Given the description of an element on the screen output the (x, y) to click on. 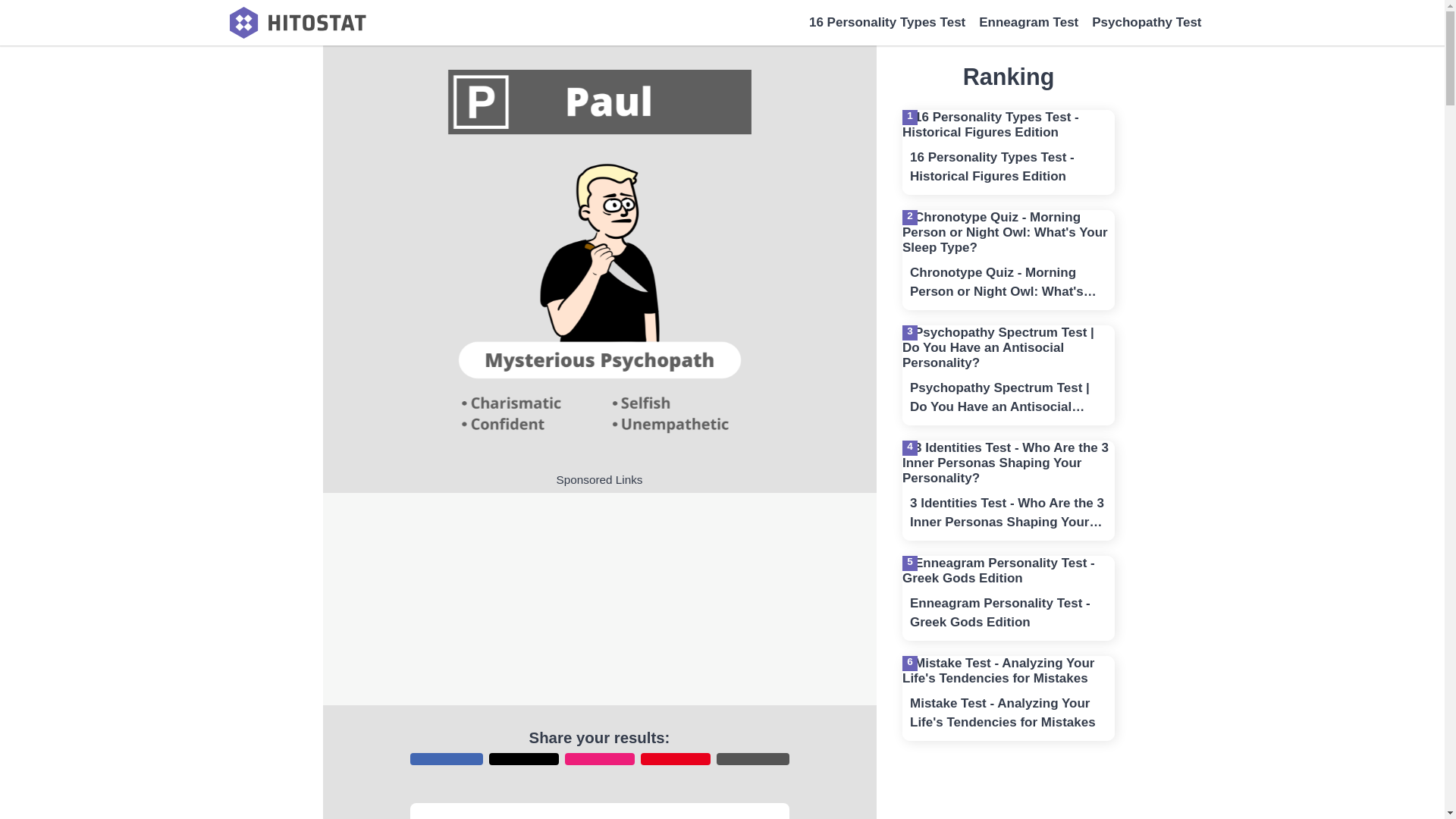
16 Personality Types Test (887, 22)
Enneagram Test (1028, 22)
Psychopathy Test (1146, 22)
